Given the description of an element on the screen output the (x, y) to click on. 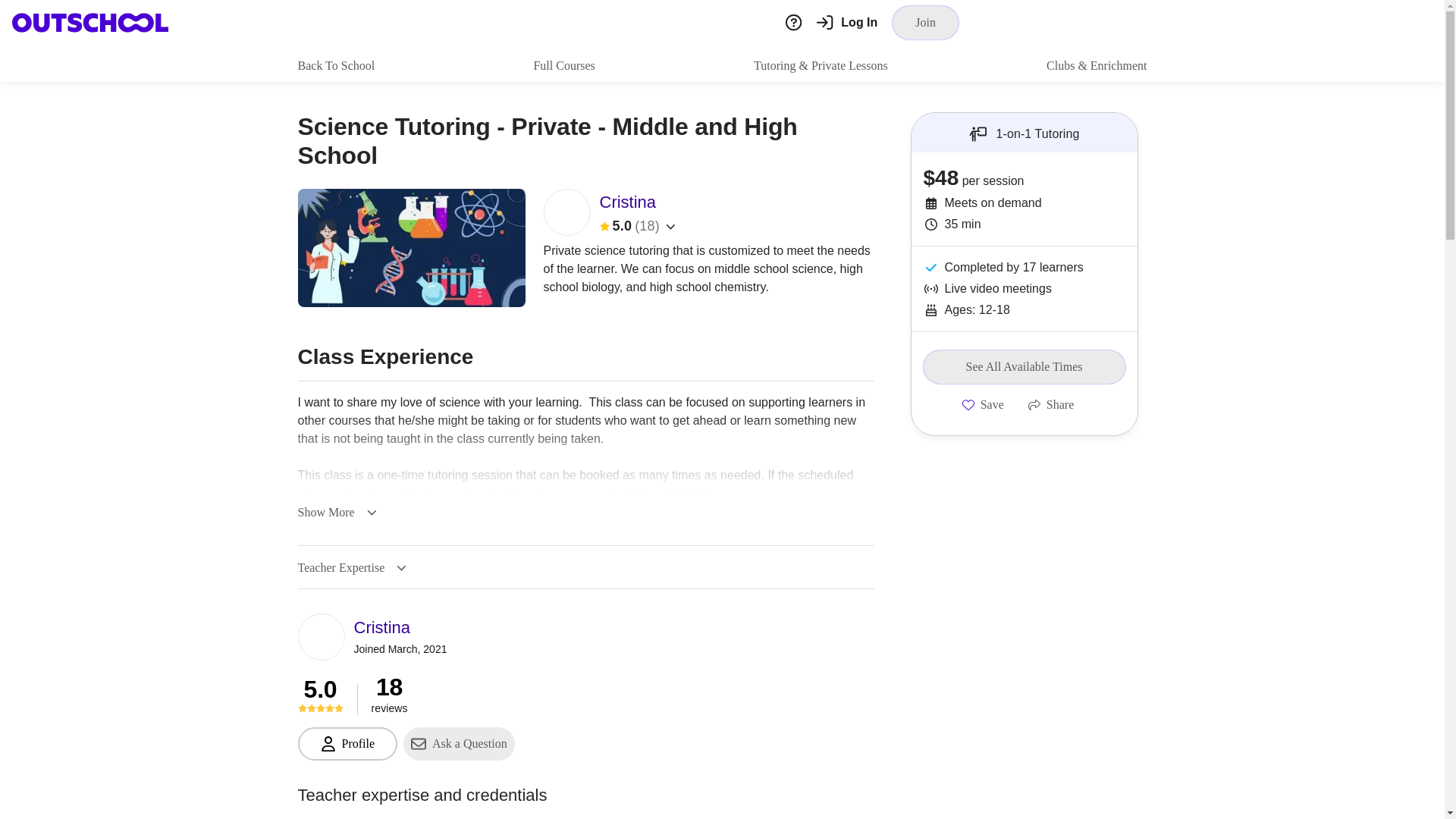
Teacher Expertise (351, 567)
See All Available Times (1024, 367)
Profile (347, 743)
Share (1051, 404)
Full Courses (563, 65)
Ask a Question (459, 743)
Back To School (335, 65)
Cristina (399, 627)
Log In (846, 22)
Join (925, 22)
